Given the description of an element on the screen output the (x, y) to click on. 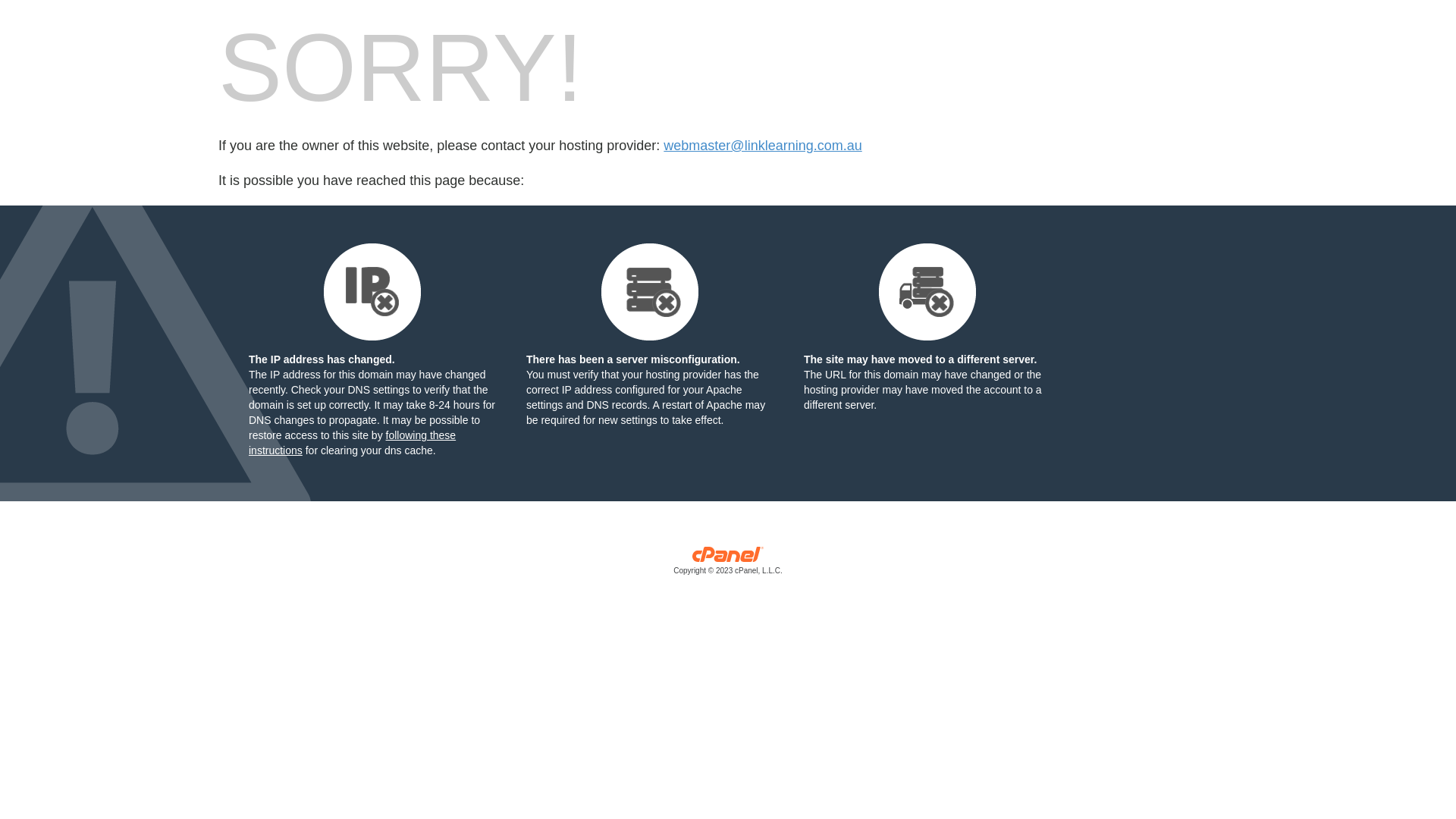
webmaster@linklearning.com.au Element type: text (762, 145)
following these instructions Element type: text (351, 442)
